Given the description of an element on the screen output the (x, y) to click on. 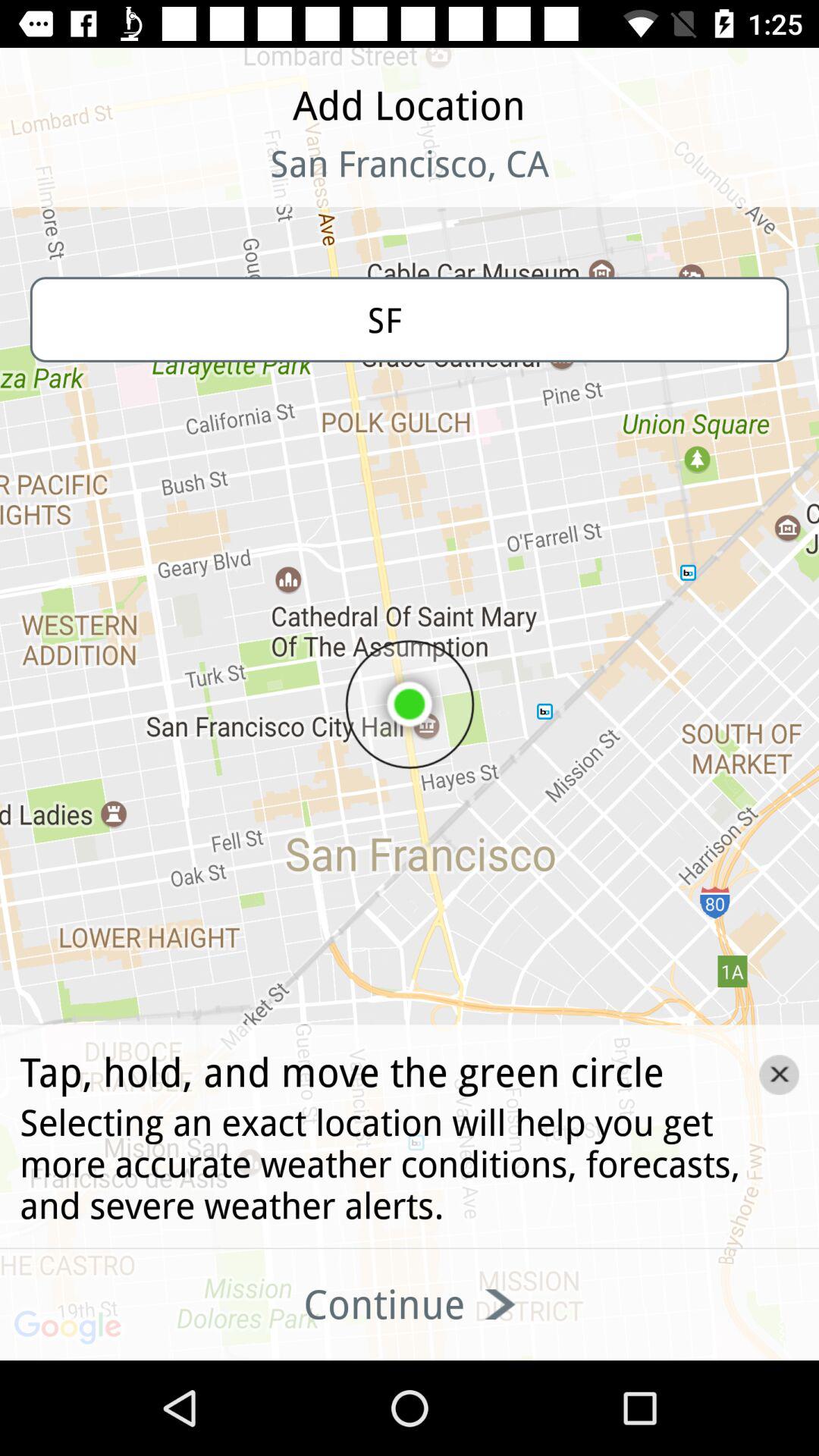
launch icon at the bottom right corner (779, 1074)
